Given the description of an element on the screen output the (x, y) to click on. 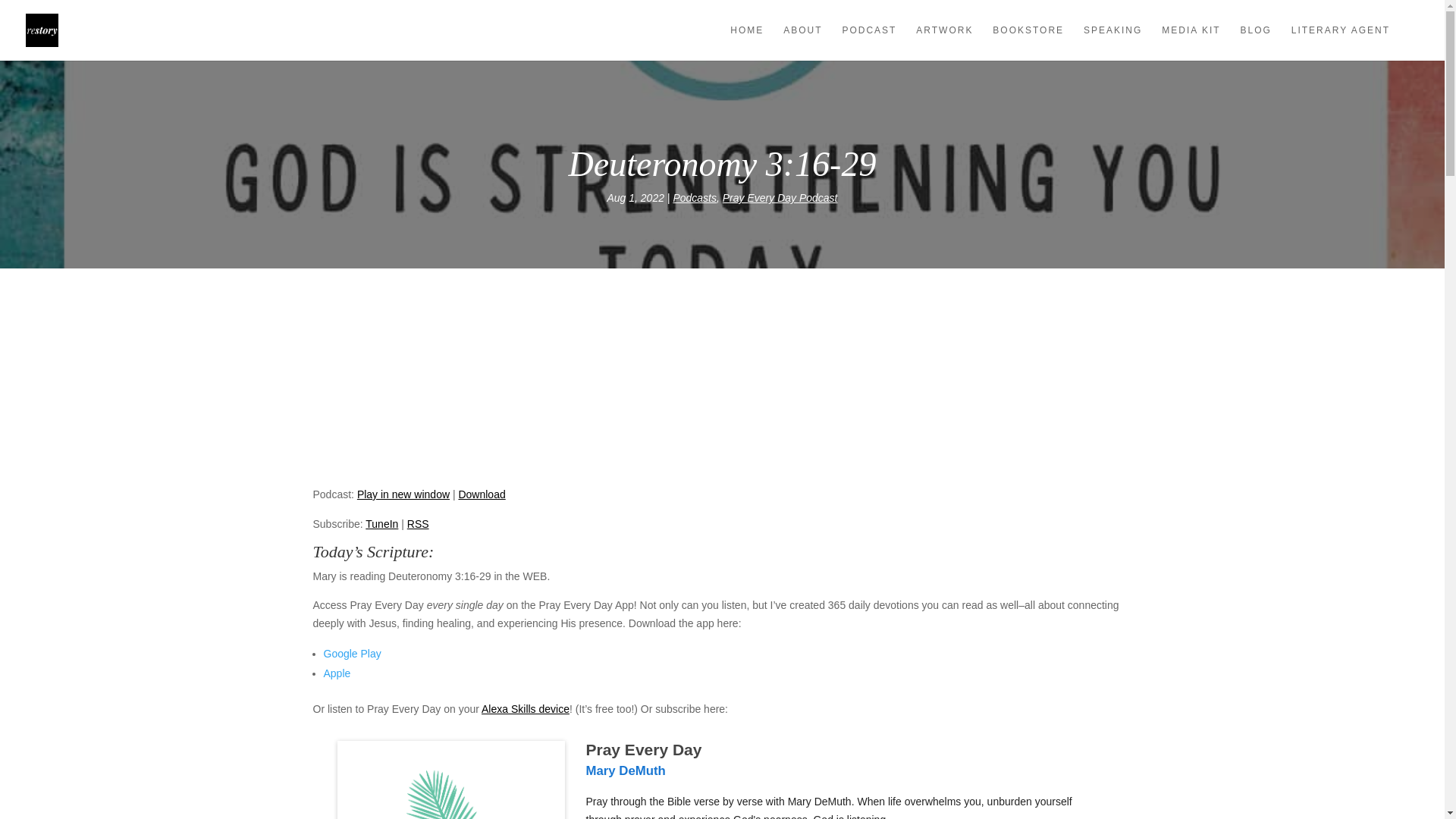
ABOUT (802, 42)
TuneIn (381, 523)
Download (481, 494)
Google Play (351, 653)
MEDIA KIT (1190, 42)
Apple (336, 673)
BOOKSTORE (1028, 42)
HOME (746, 42)
RSS (418, 523)
Pray Every Day Podcast (780, 197)
PODCAST (868, 42)
Blubrry Podcast Player (722, 416)
Alexa Skills device (525, 708)
Download (481, 494)
Subscribe on TuneIn (381, 523)
